Given the description of an element on the screen output the (x, y) to click on. 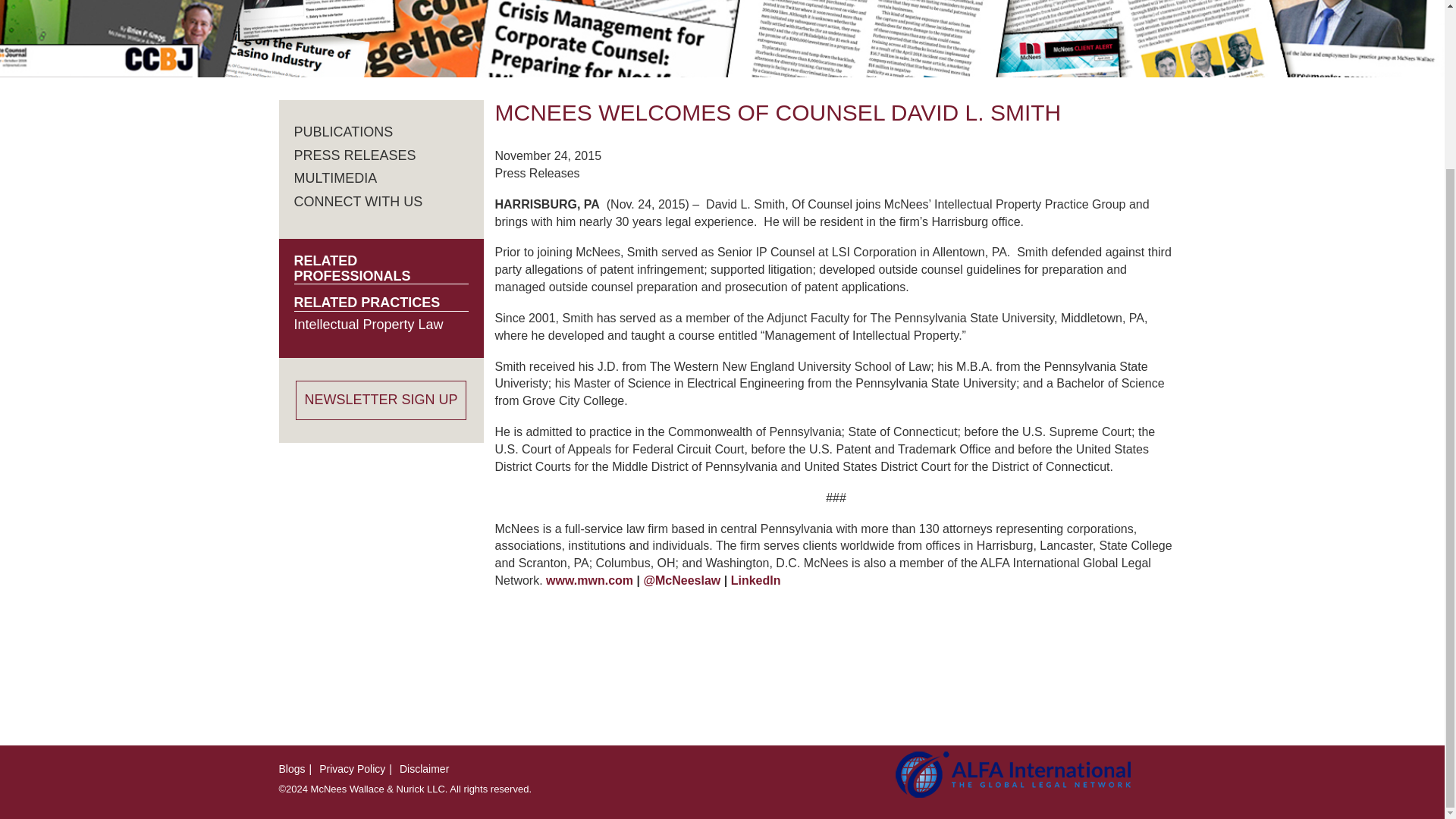
MULTIMEDIA (335, 177)
PUBLICATIONS (343, 131)
NEWSLETTER SIGN UP (380, 400)
PRESS RELEASES (355, 155)
www.mwn.com (589, 580)
Blogs (292, 768)
LinkedIn (755, 580)
Intellectual Property Law (369, 324)
Disclaimer (423, 768)
NEWSLETTER SIGN UP (381, 400)
Privacy Policy (351, 768)
CONNECT WITH US (358, 201)
